Given the description of an element on the screen output the (x, y) to click on. 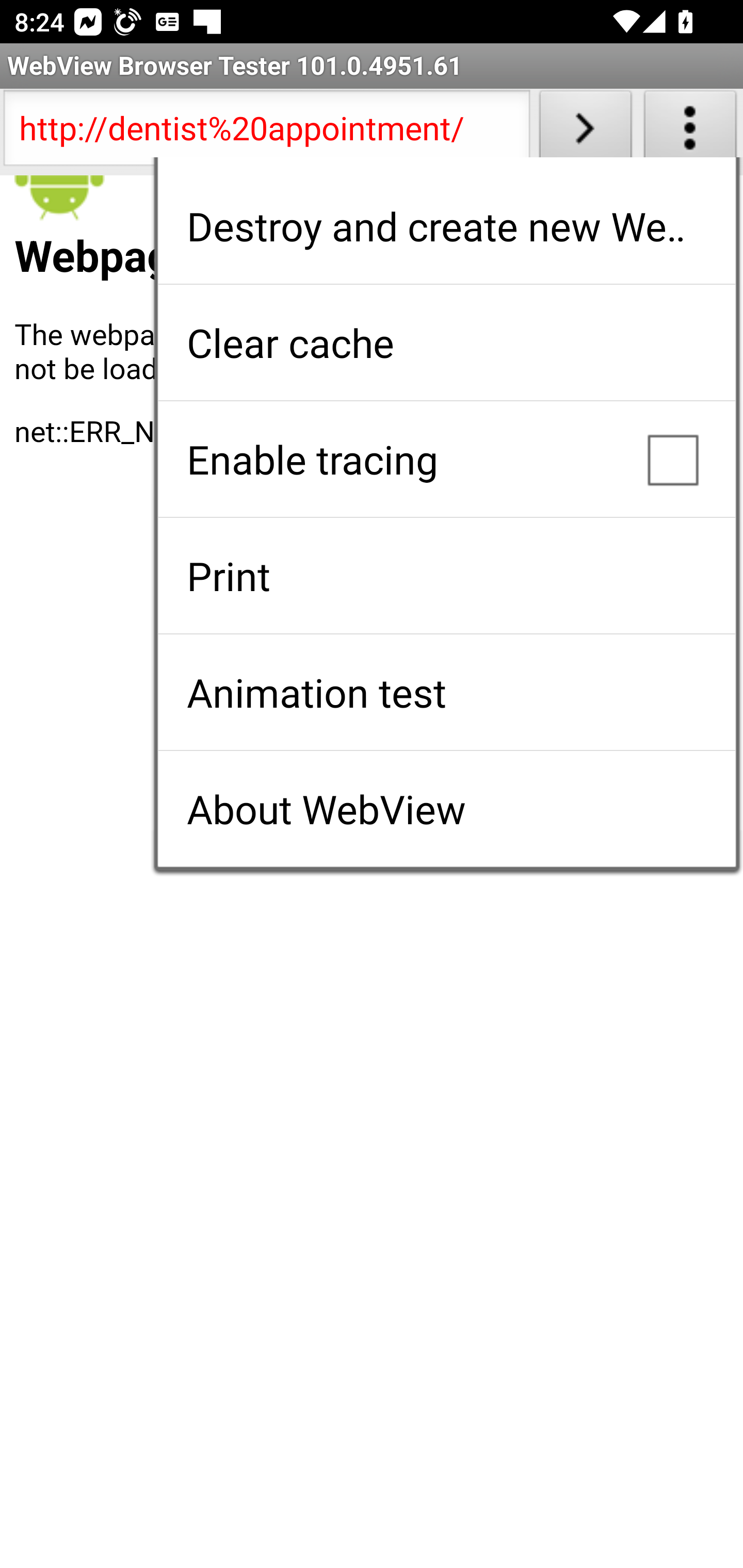
Destroy and create new WebView (446, 225)
Clear cache (446, 342)
Enable tracing (446, 459)
Print (446, 575)
Animation test (446, 692)
About WebView (446, 809)
